Given the description of an element on the screen output the (x, y) to click on. 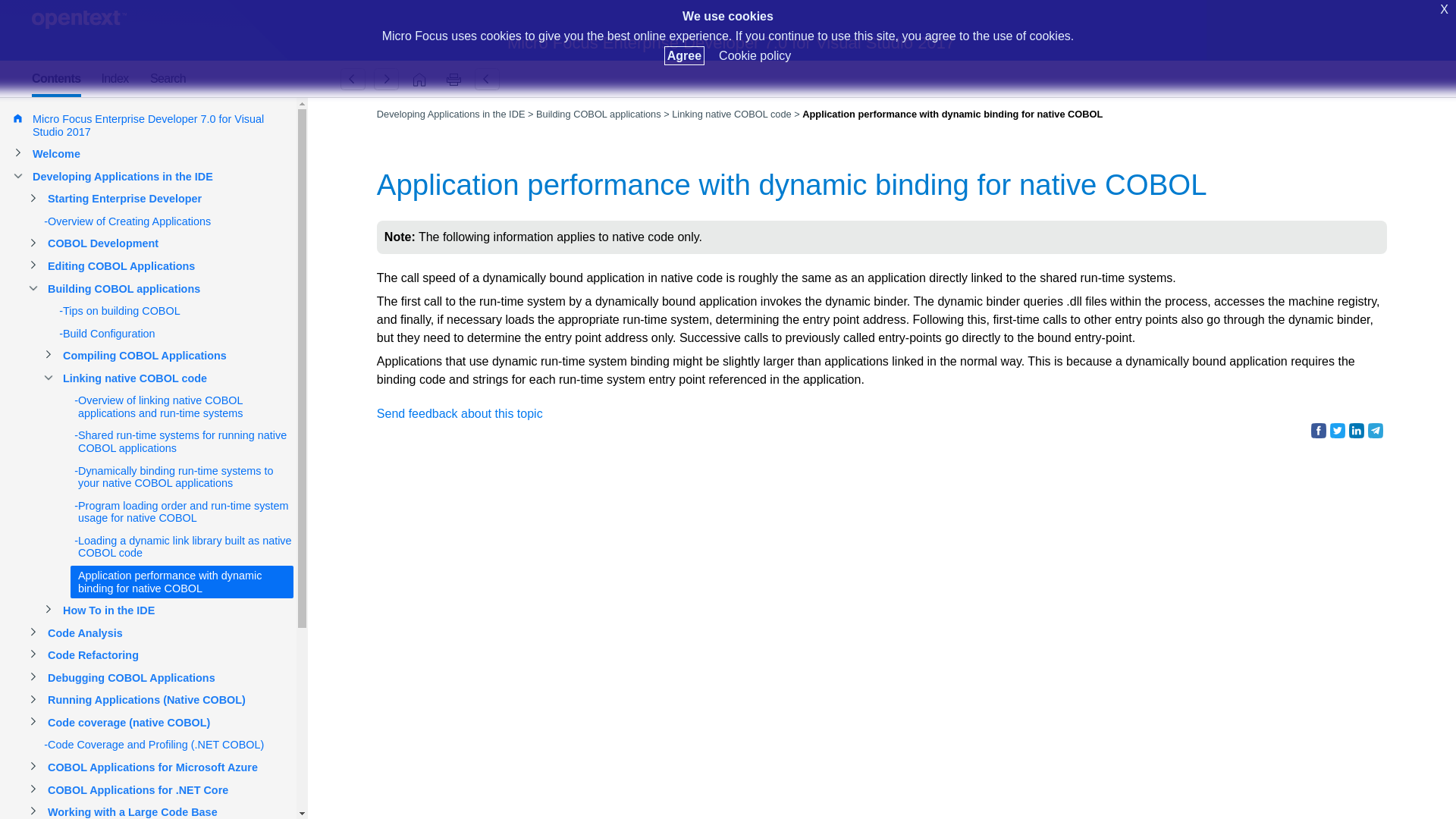
Loading a dynamic link library built as native COBOL code (352, 78)
How To in the IDE (386, 78)
Agree (684, 55)
Cookie policy (754, 55)
